Given the description of an element on the screen output the (x, y) to click on. 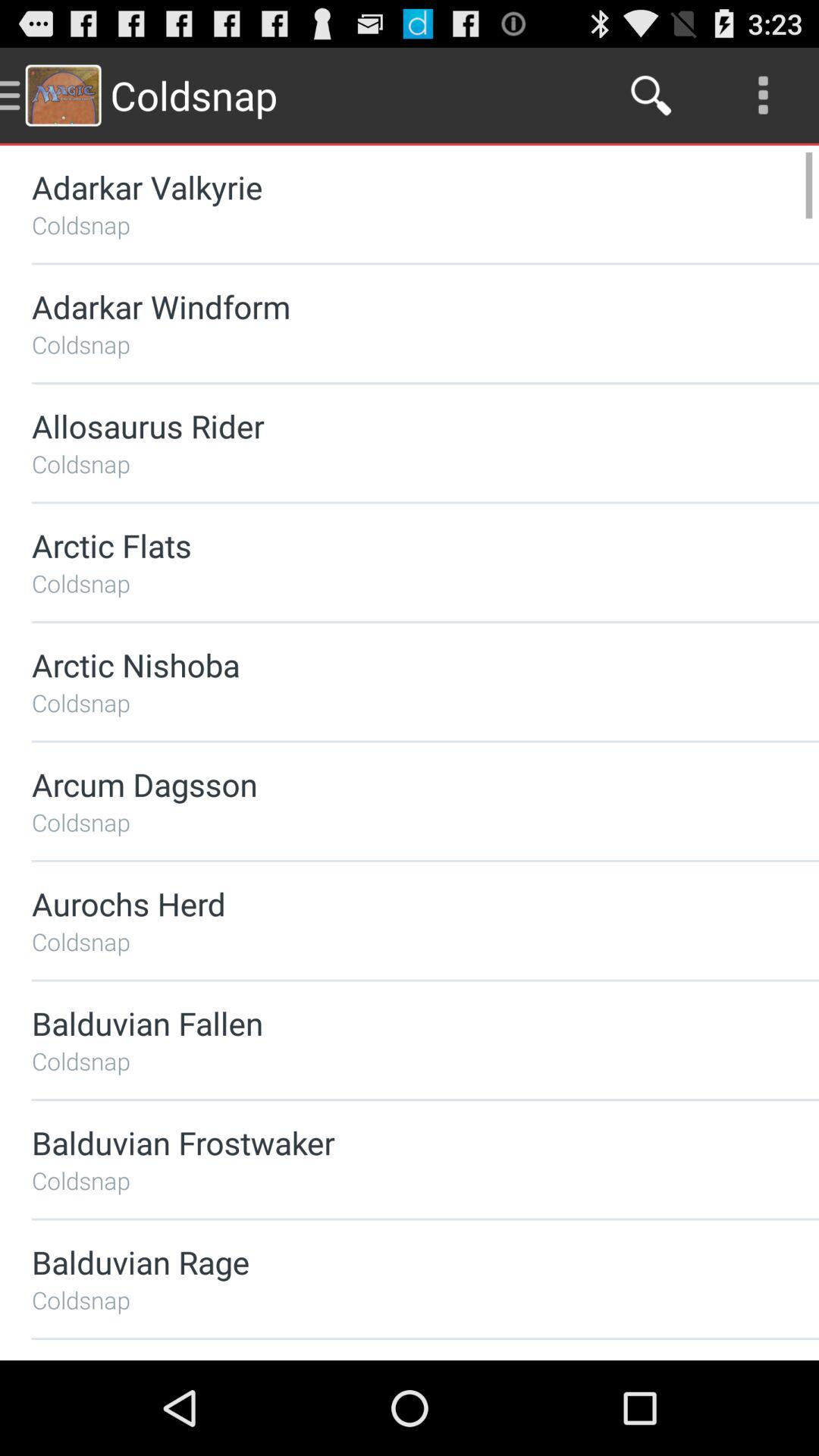
tap item above the coldsnap item (385, 545)
